Given the description of an element on the screen output the (x, y) to click on. 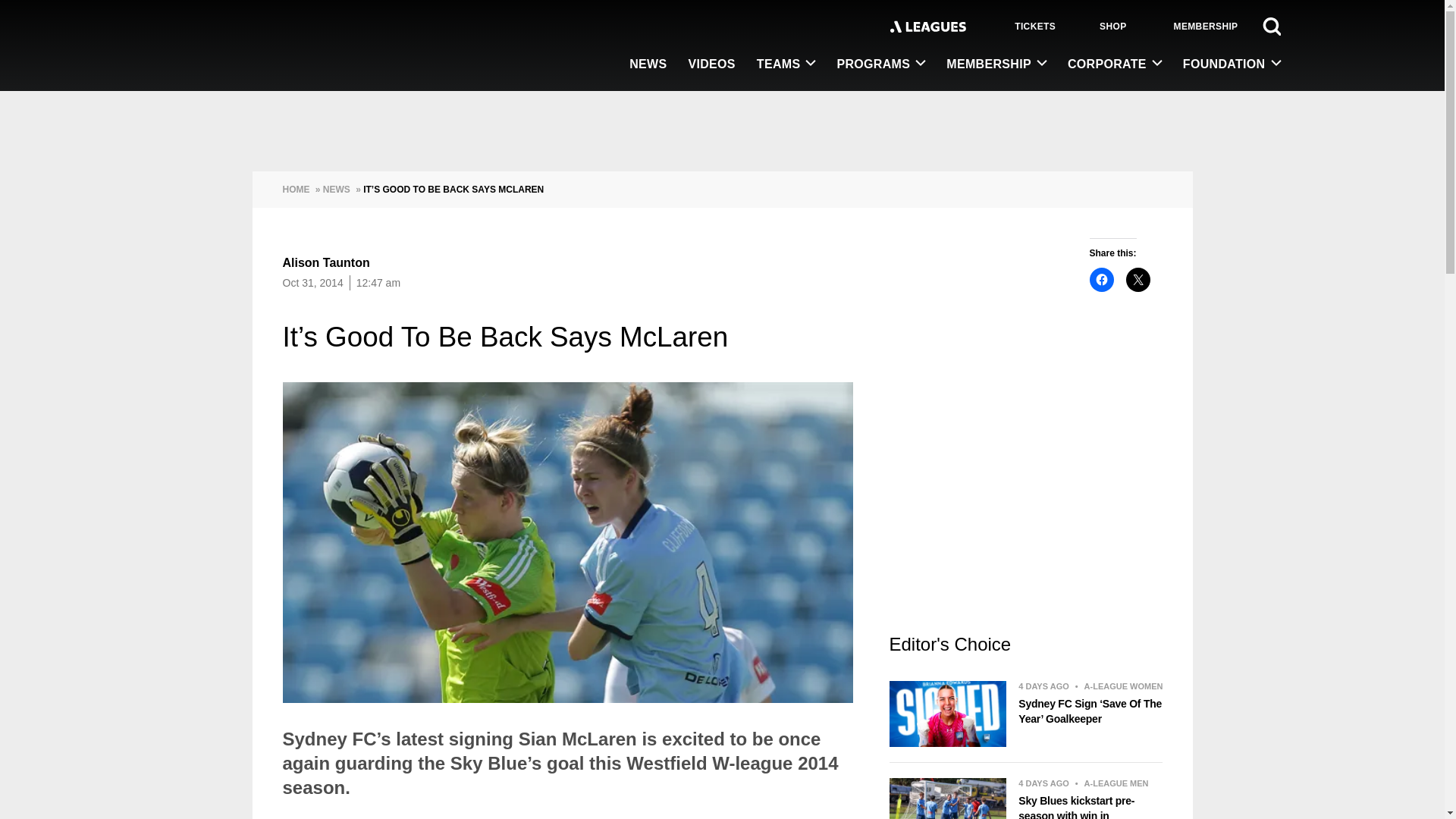
Click to share on X (1137, 279)
PROGRAMS (880, 64)
TEAMS (786, 64)
NEWS (647, 65)
Click to share on Facebook (1101, 279)
VIDEOS (711, 65)
